Given the description of an element on the screen output the (x, y) to click on. 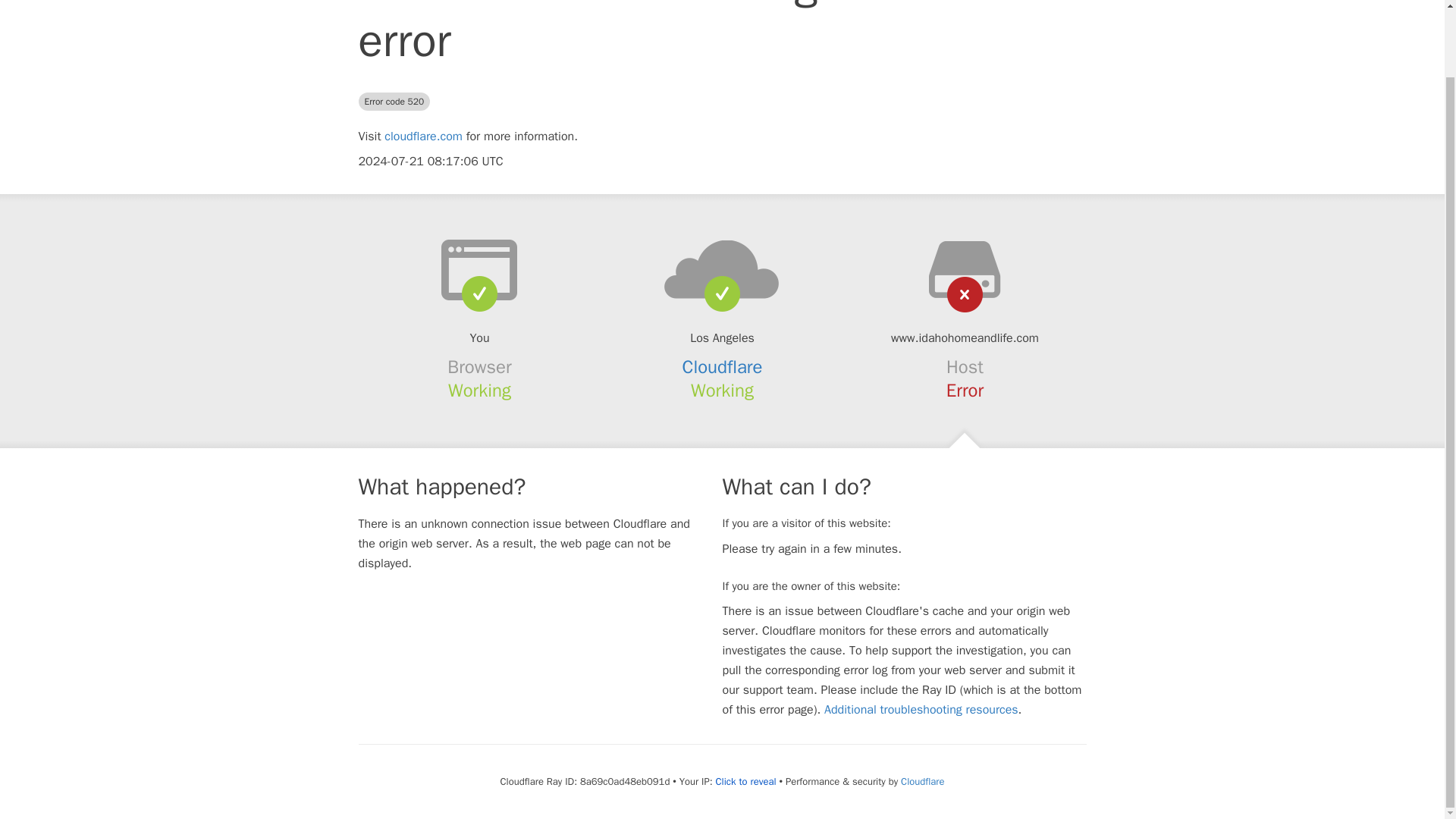
Click to reveal (746, 781)
Cloudflare (922, 780)
Additional troubleshooting resources (920, 709)
cloudflare.com (423, 136)
Cloudflare (722, 366)
